Given the description of an element on the screen output the (x, y) to click on. 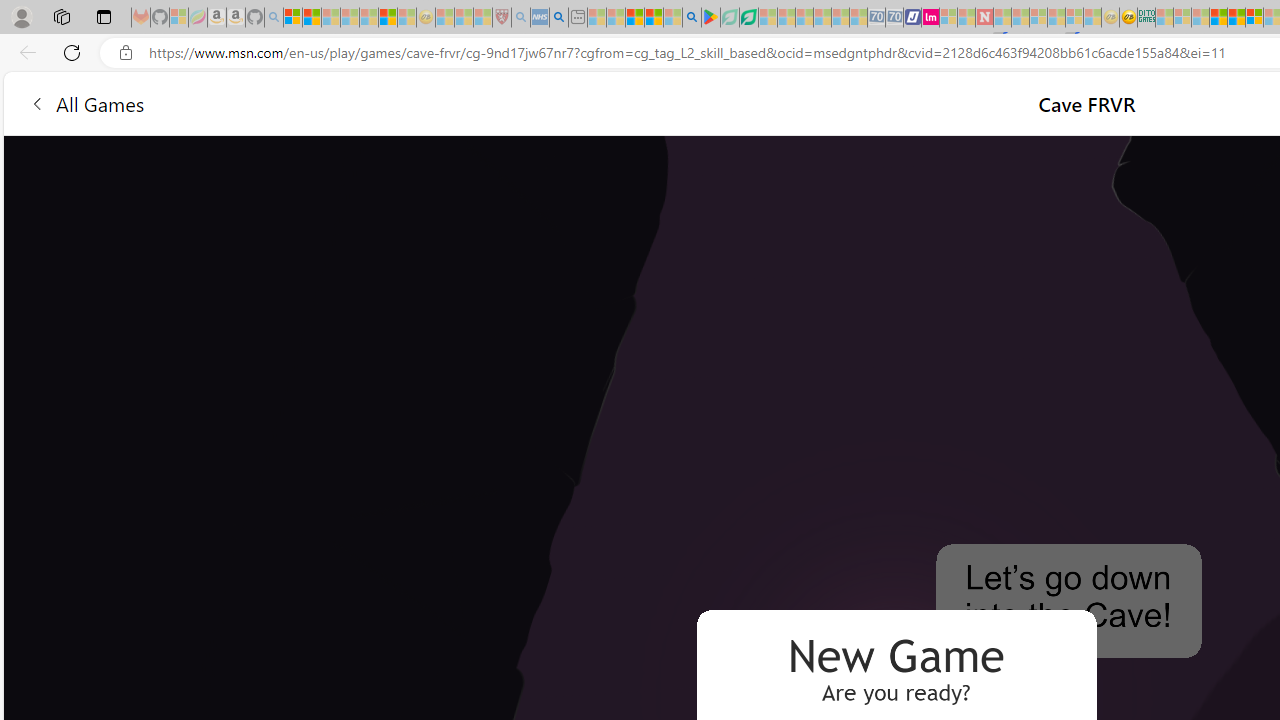
Local - MSN - Sleeping (482, 17)
All Games (86, 102)
